Given the description of an element on the screen output the (x, y) to click on. 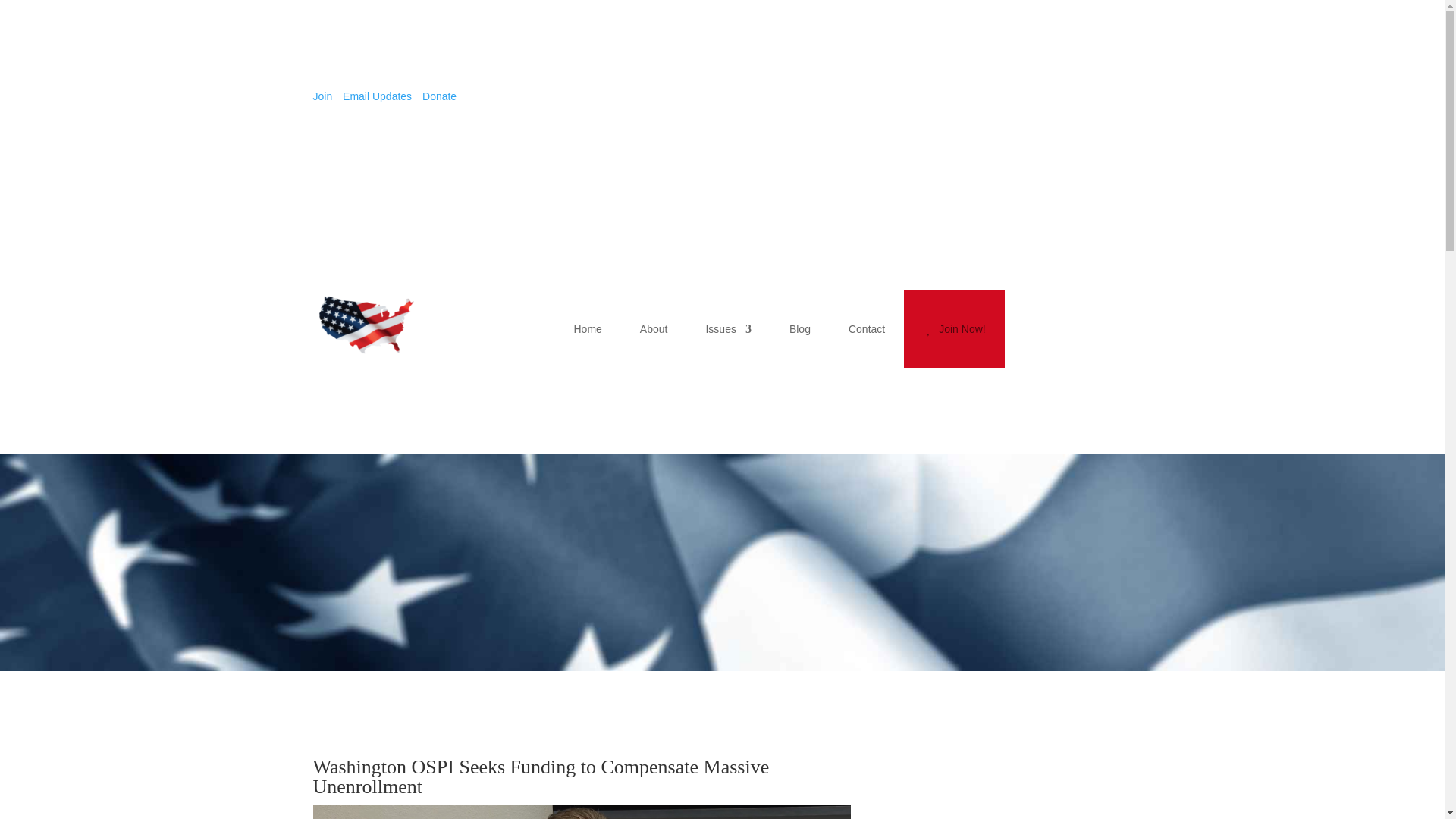
Follow on Facebook (1058, 98)
download-52 (581, 811)
Join (322, 96)
Follow on X (1088, 98)
Follow on Instagram (1118, 98)
Email Updates (377, 96)
Donate (439, 96)
